Given the description of an element on the screen output the (x, y) to click on. 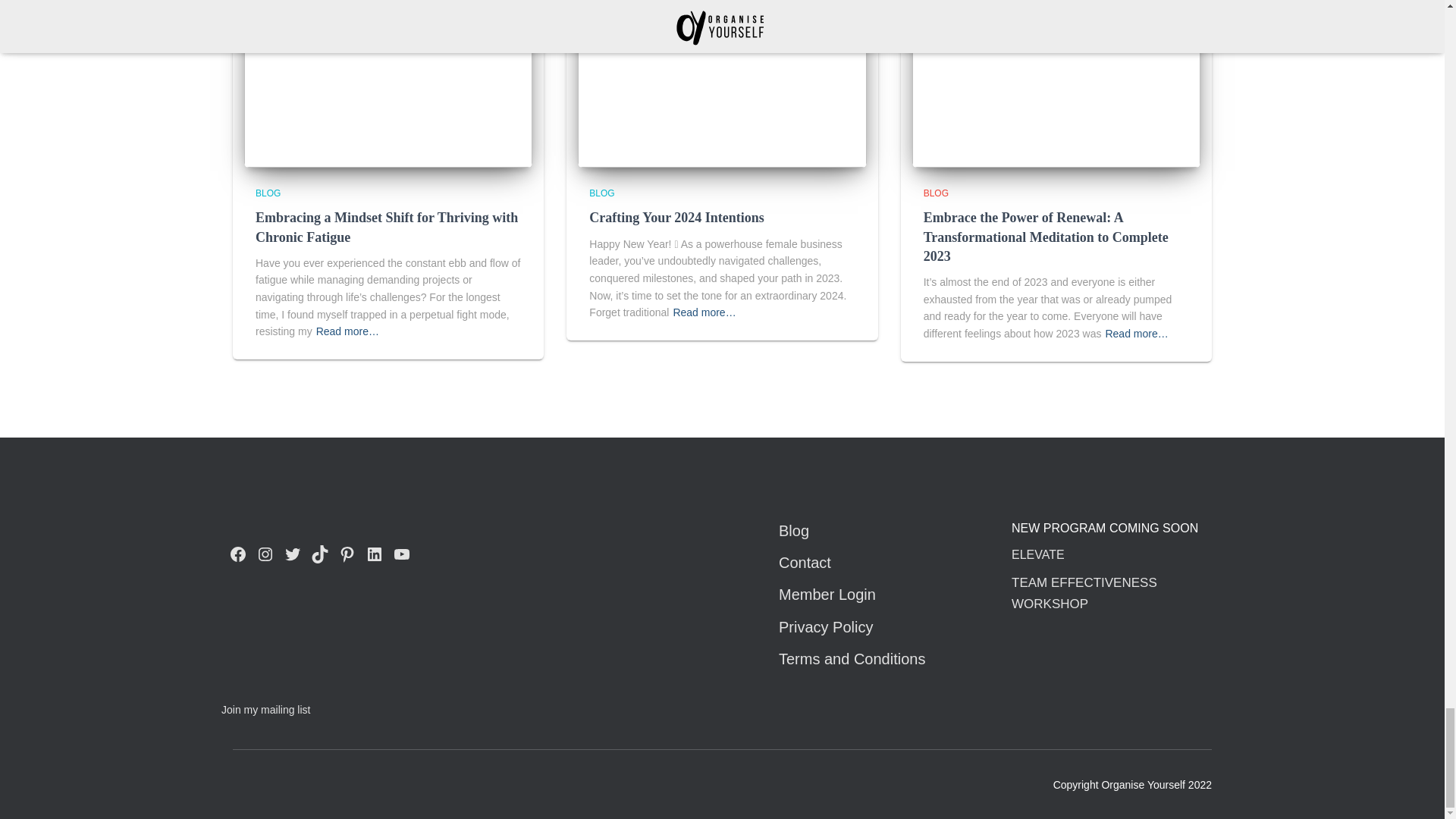
Embracing a Mindset Shift for Thriving with Chronic Fatigue (387, 226)
BLOG (268, 193)
View all posts in Blog (268, 193)
View all posts in Blog (936, 193)
View all posts in Blog (601, 193)
Embracing a Mindset Shift for Thriving with Chronic Fatigue (387, 226)
Crafting Your 2024 Intentions (676, 217)
Crafting Your 2024 Intentions (722, 70)
Embracing a Mindset Shift for Thriving with Chronic Fatigue (388, 70)
